Given the description of an element on the screen output the (x, y) to click on. 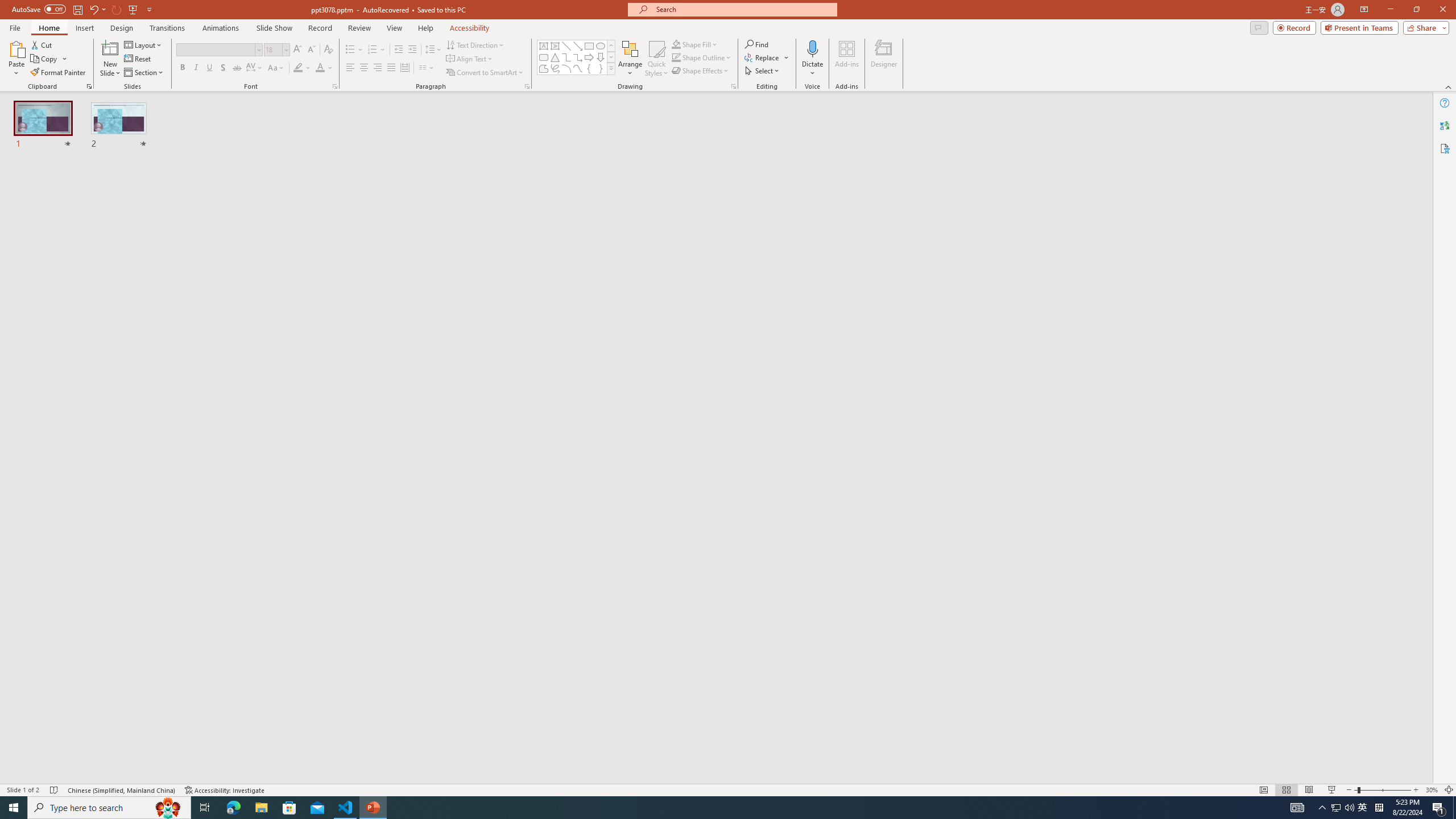
Shape Outline (701, 56)
Decrease Font Size (310, 49)
Distributed (404, 67)
Quick Styles (656, 58)
Left Brace (589, 68)
Curve (577, 68)
